Given the description of an element on the screen output the (x, y) to click on. 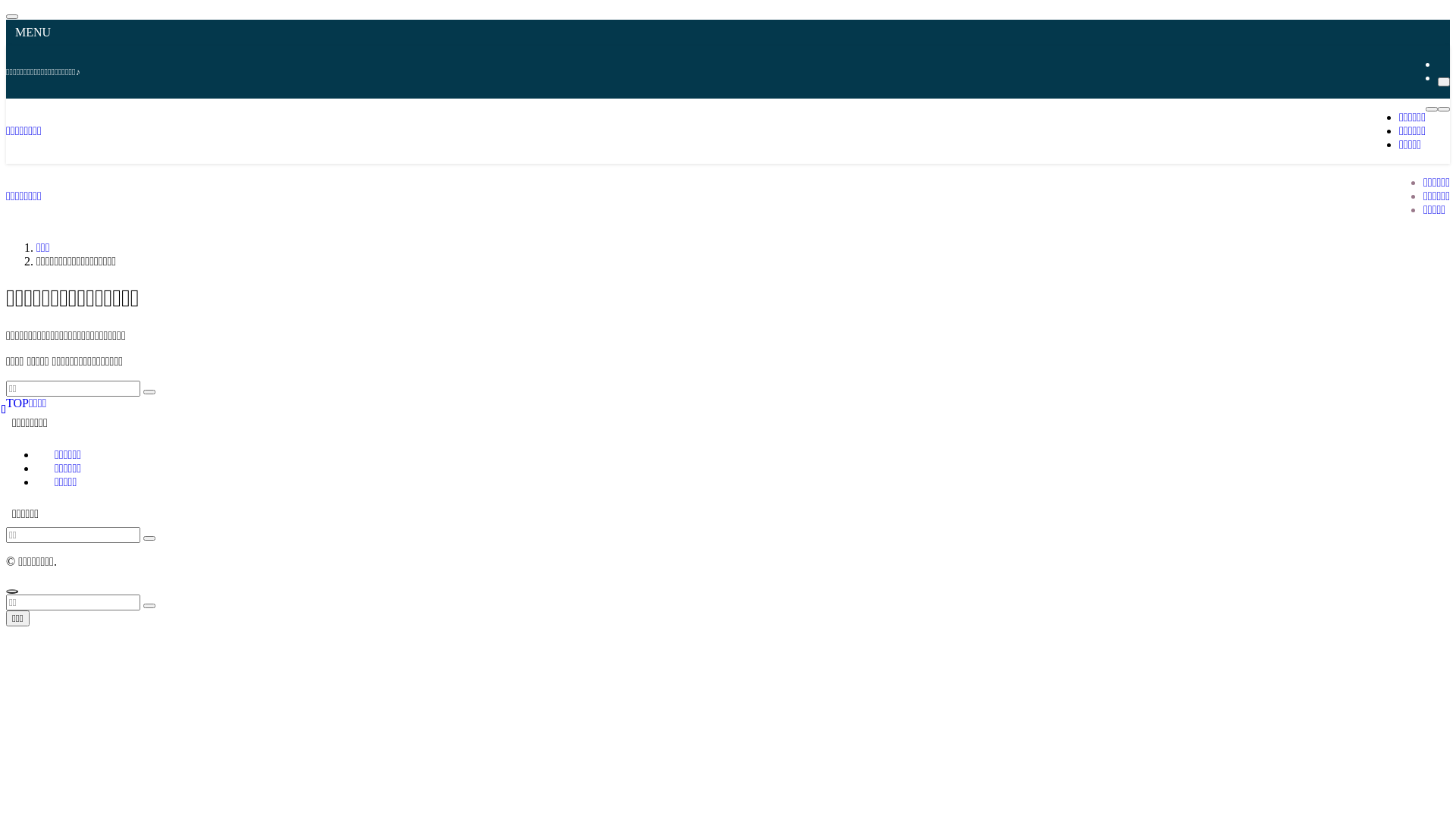
search Element type: text (149, 605)
search Element type: text (149, 391)
search Element type: text (149, 538)
